Given the description of an element on the screen output the (x, y) to click on. 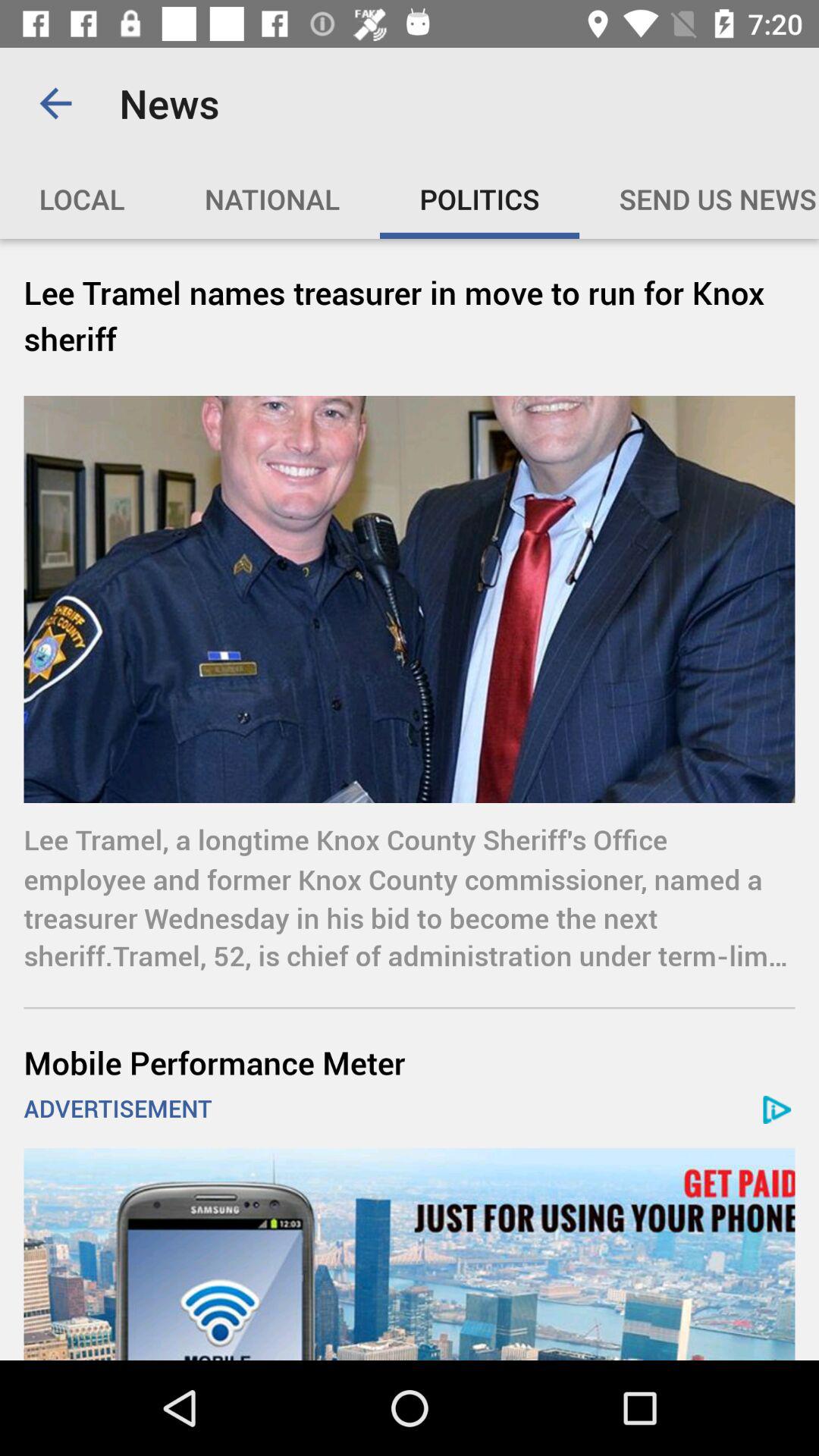
tap the item above the advertisement item (409, 1062)
